Given the description of an element on the screen output the (x, y) to click on. 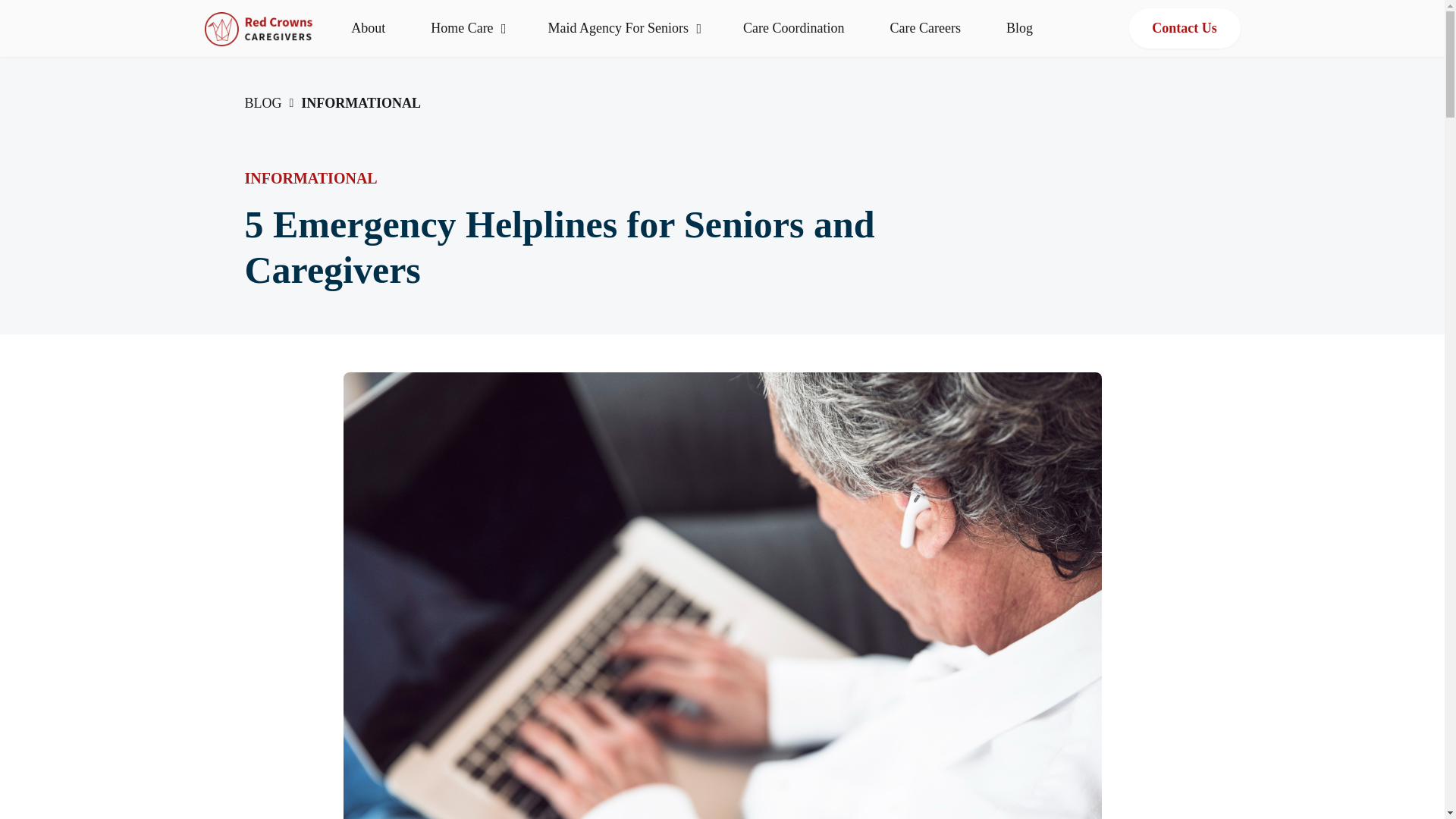
Maid Agency For Seniors (622, 28)
Home Care (466, 28)
Care Coordination (793, 28)
About (367, 28)
